Given the description of an element on the screen output the (x, y) to click on. 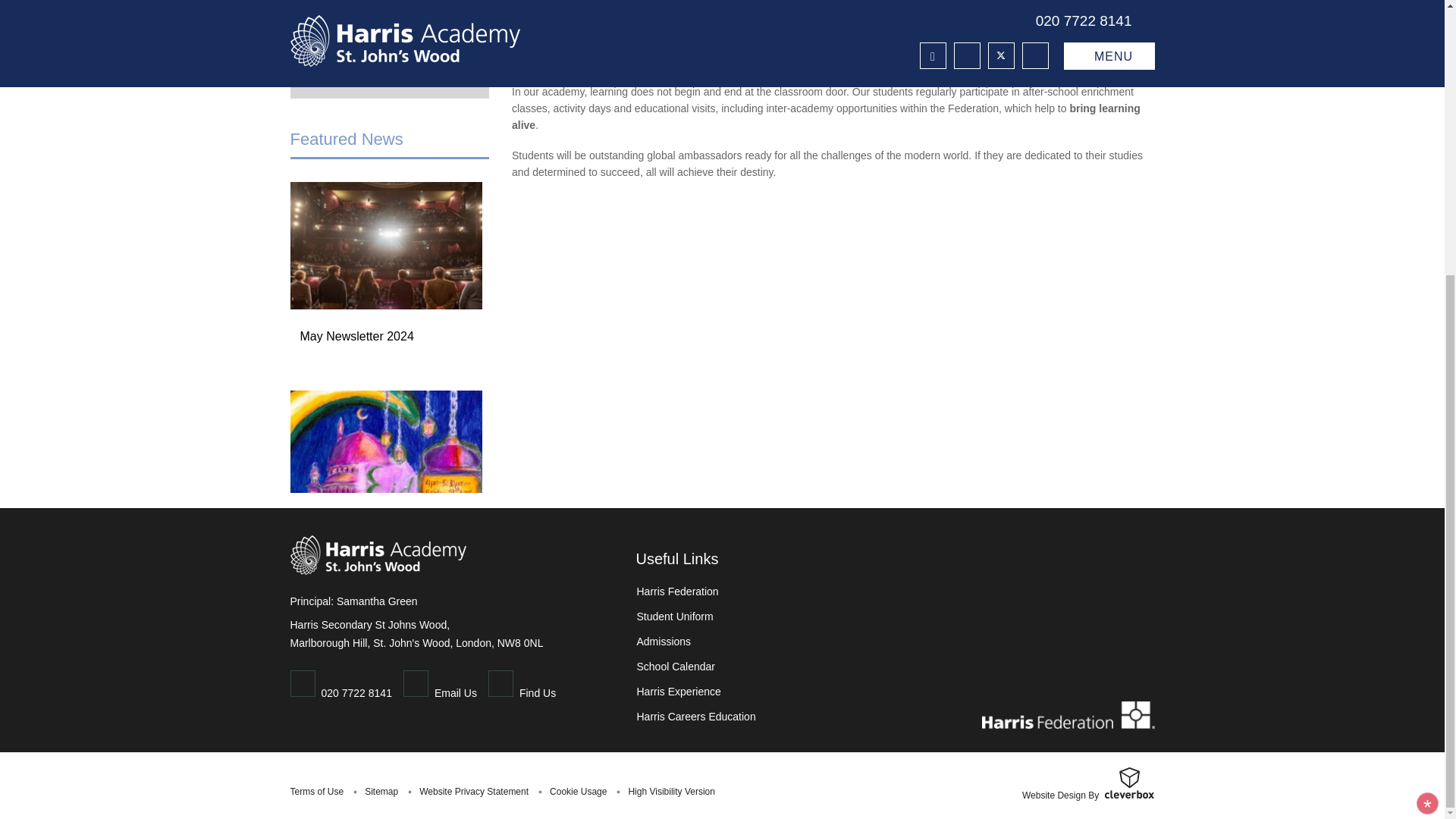
Featured News (346, 138)
Harris Secondary St Johns Wood (377, 556)
Harris Secondary St Johns Wood (1067, 715)
